Given the description of an element on the screen output the (x, y) to click on. 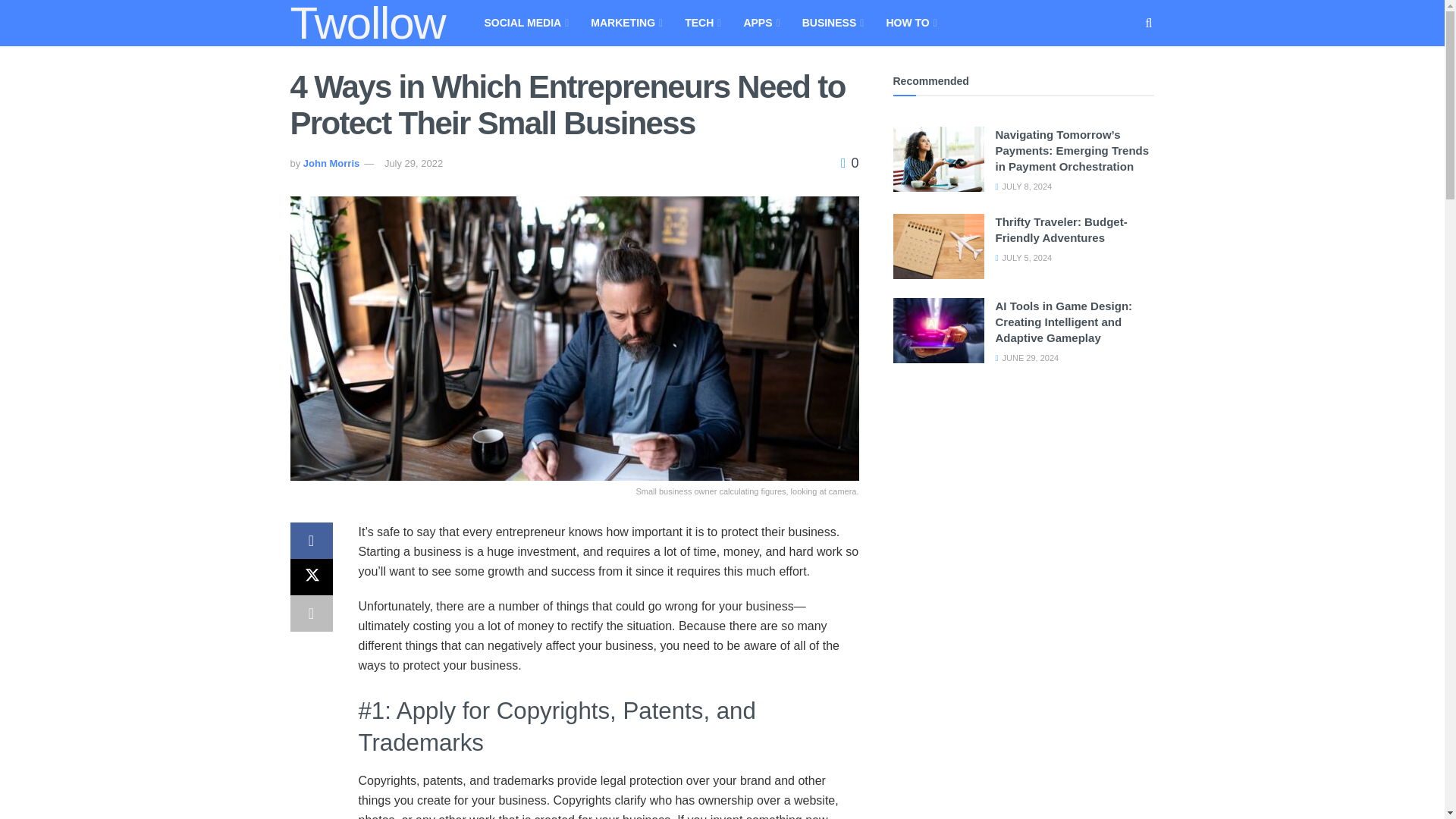
MARKETING (625, 22)
SOCIAL MEDIA (524, 22)
Twollow (367, 22)
